Given the description of an element on the screen output the (x, y) to click on. 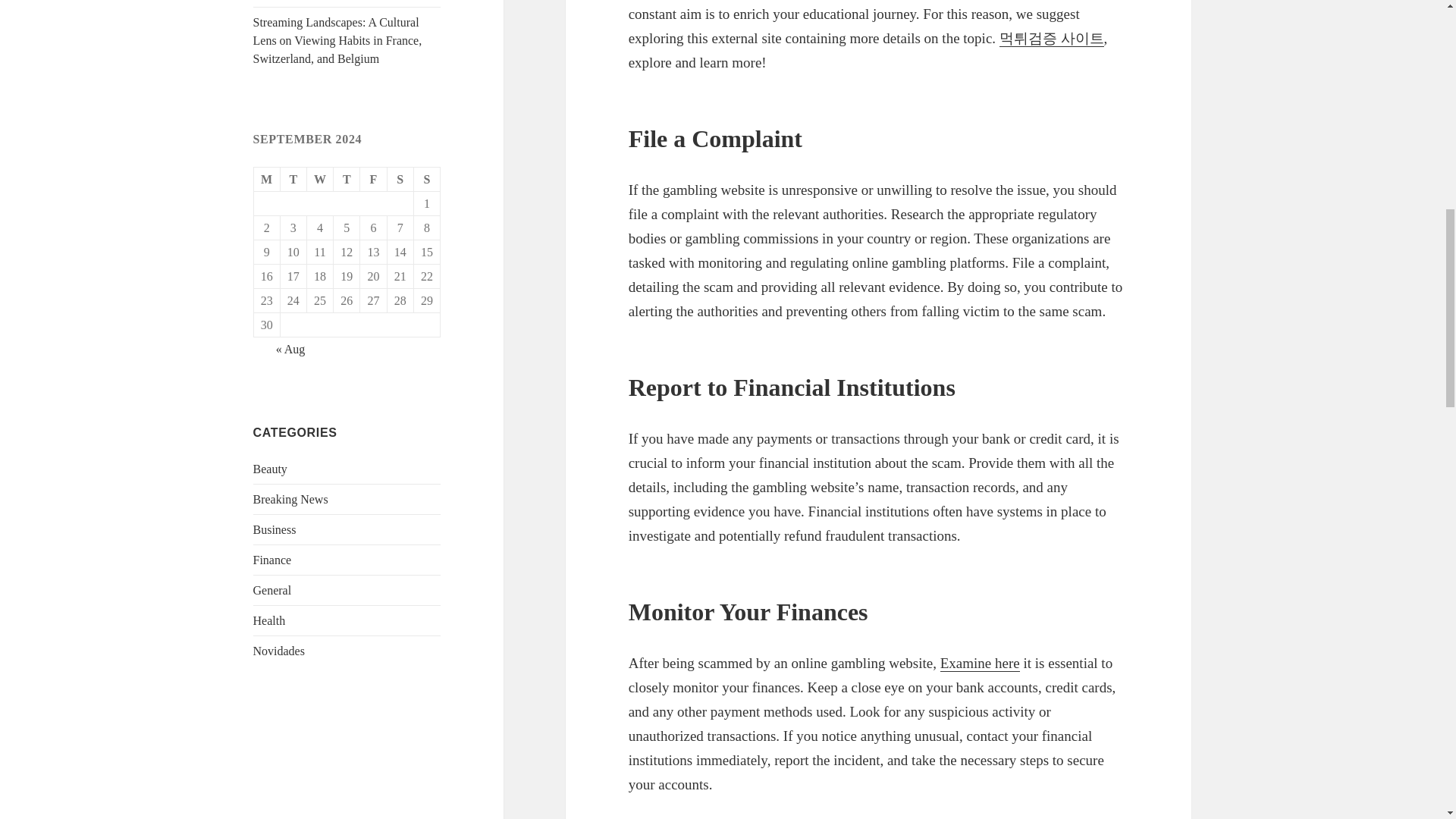
Finance (272, 559)
Novidades (278, 650)
Saturday (400, 179)
Business (275, 529)
Thursday (346, 179)
Monday (267, 179)
Friday (373, 179)
Examine here (980, 663)
Sunday (427, 179)
